Given the description of an element on the screen output the (x, y) to click on. 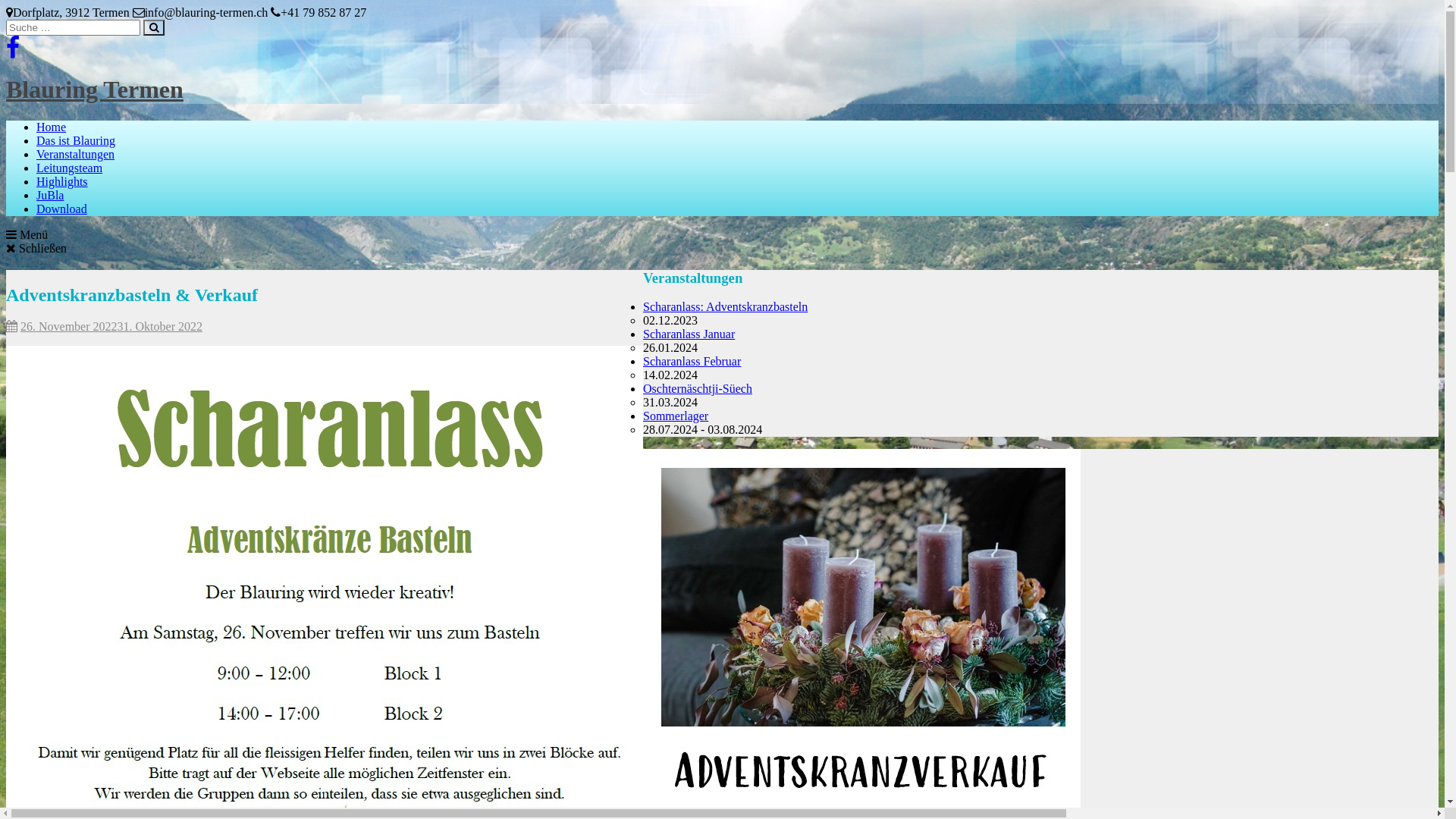
Highlights Element type: text (61, 181)
Sommerlager Element type: text (675, 415)
Download Element type: text (61, 208)
Home Element type: text (50, 126)
Leitungsteam Element type: text (69, 167)
Das ist Blauring Element type: text (75, 140)
Scharanlass: Adventskranzbasteln Element type: text (725, 306)
Scharanlass Januar Element type: text (688, 333)
26. November 202231. Oktober 2022 Element type: text (111, 326)
JuBla Element type: text (49, 194)
Scharanlass Februar Element type: text (691, 360)
Blauring Termen Element type: text (94, 89)
Veranstaltungen Element type: text (75, 153)
Zum Inhalt springen Element type: text (5, 5)
Facebook Blauring Termen Element type: hover (12, 51)
Suche Element type: text (153, 27)
